Given the description of an element on the screen output the (x, y) to click on. 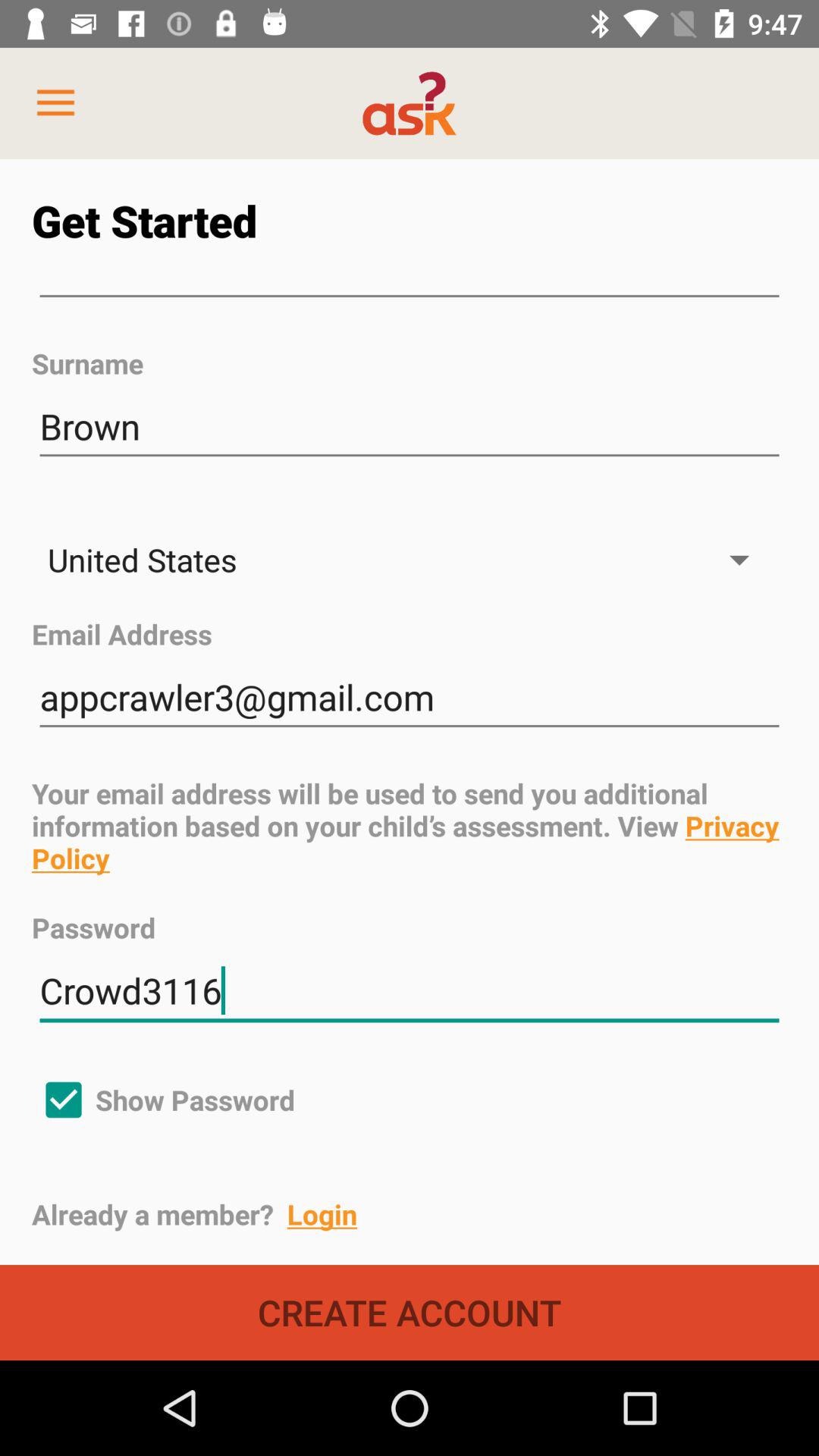
tap brown (409, 427)
